Given the description of an element on the screen output the (x, y) to click on. 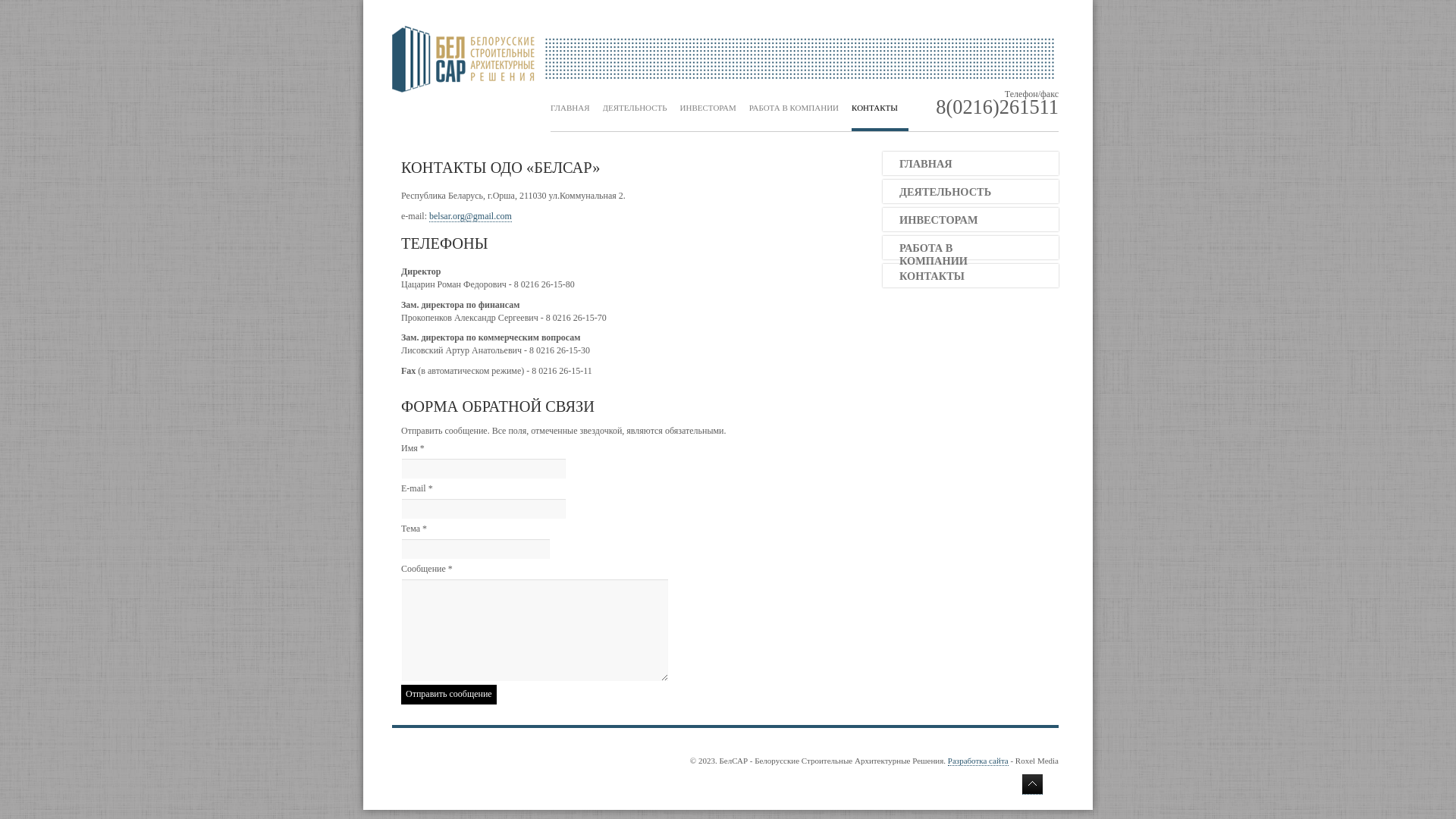
belsar.org@gmail.com Element type: text (470, 216)
